Given the description of an element on the screen output the (x, y) to click on. 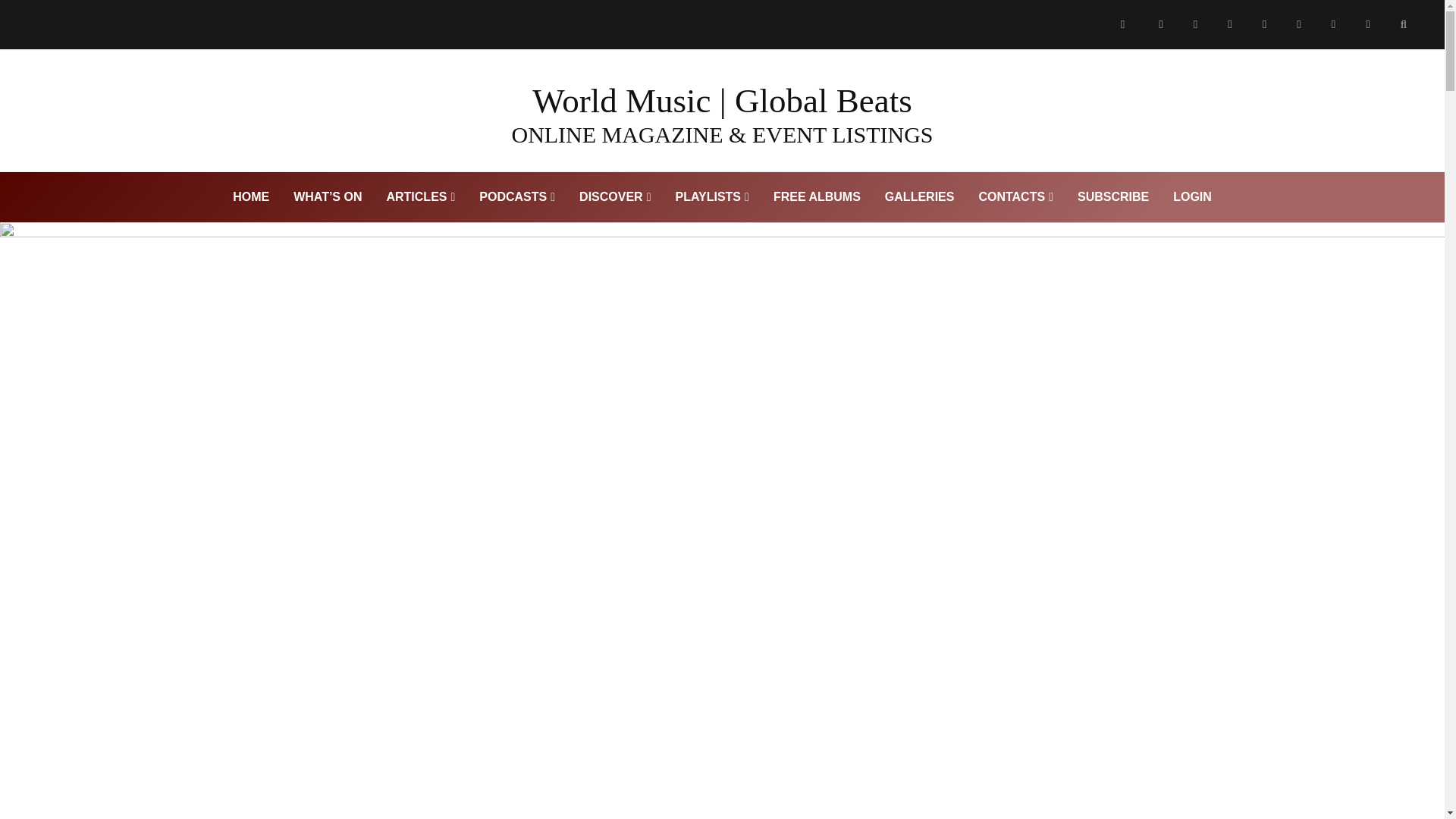
PODCASTS (517, 196)
ARTICLES (420, 196)
DISCOVER (614, 196)
HOME (251, 196)
